Given the description of an element on the screen output the (x, y) to click on. 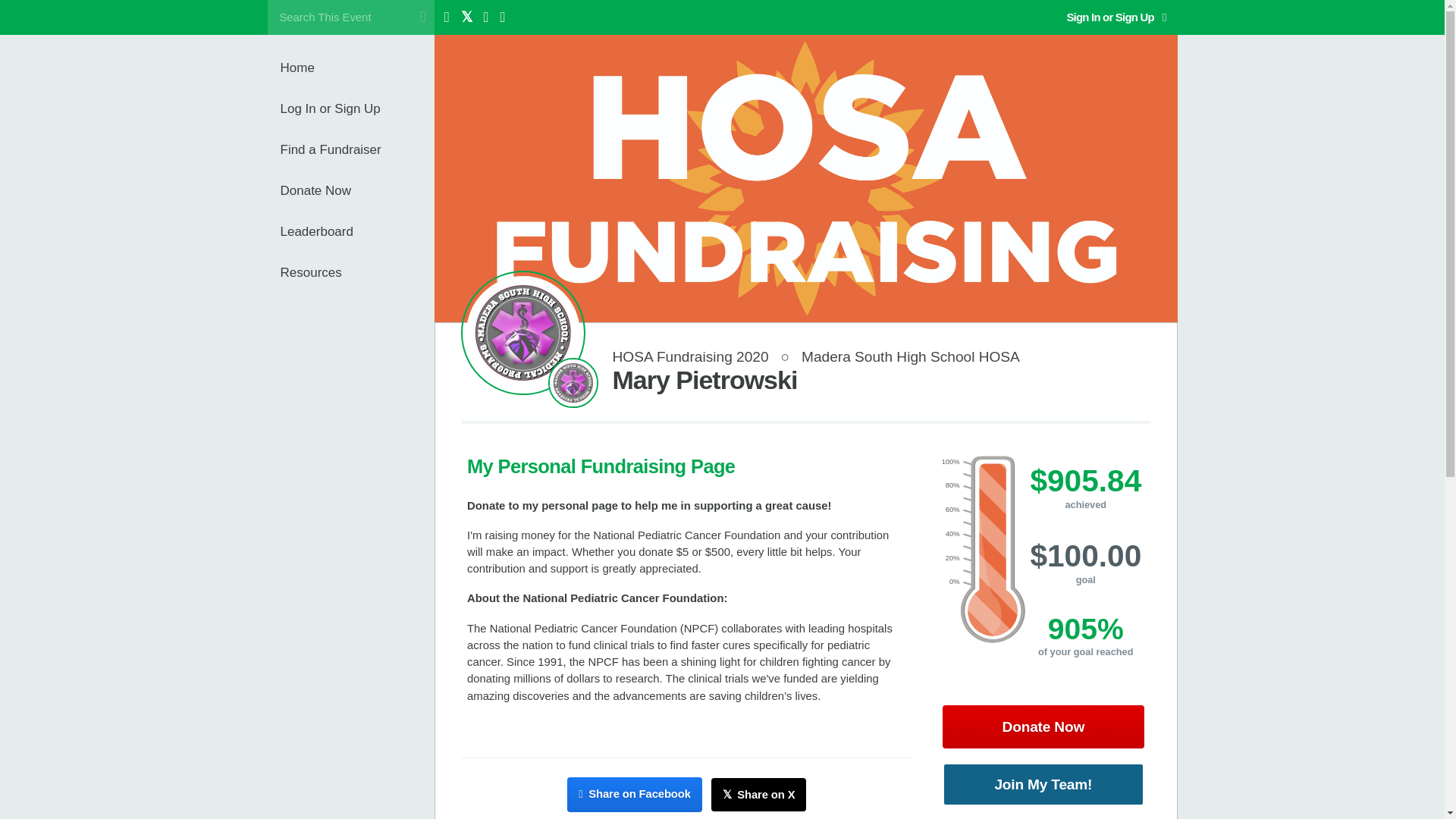
HOSA Fundraising 2020 (690, 356)
Fundraising Page: Mary Pietrowski (523, 332)
Share on Facebook (634, 794)
Donate Now (1043, 726)
Log In or Sign Up (357, 108)
Sign In or Sign Up (1116, 17)
Team Page: Madera South High School HOSA (573, 382)
Leaderboard (357, 231)
Find a Fundraiser (357, 149)
Madera South High School HOSA (911, 356)
Join My Team! (1043, 783)
Resources (357, 272)
Home (357, 67)
Donate Now (357, 190)
Share on X (758, 795)
